Given the description of an element on the screen output the (x, y) to click on. 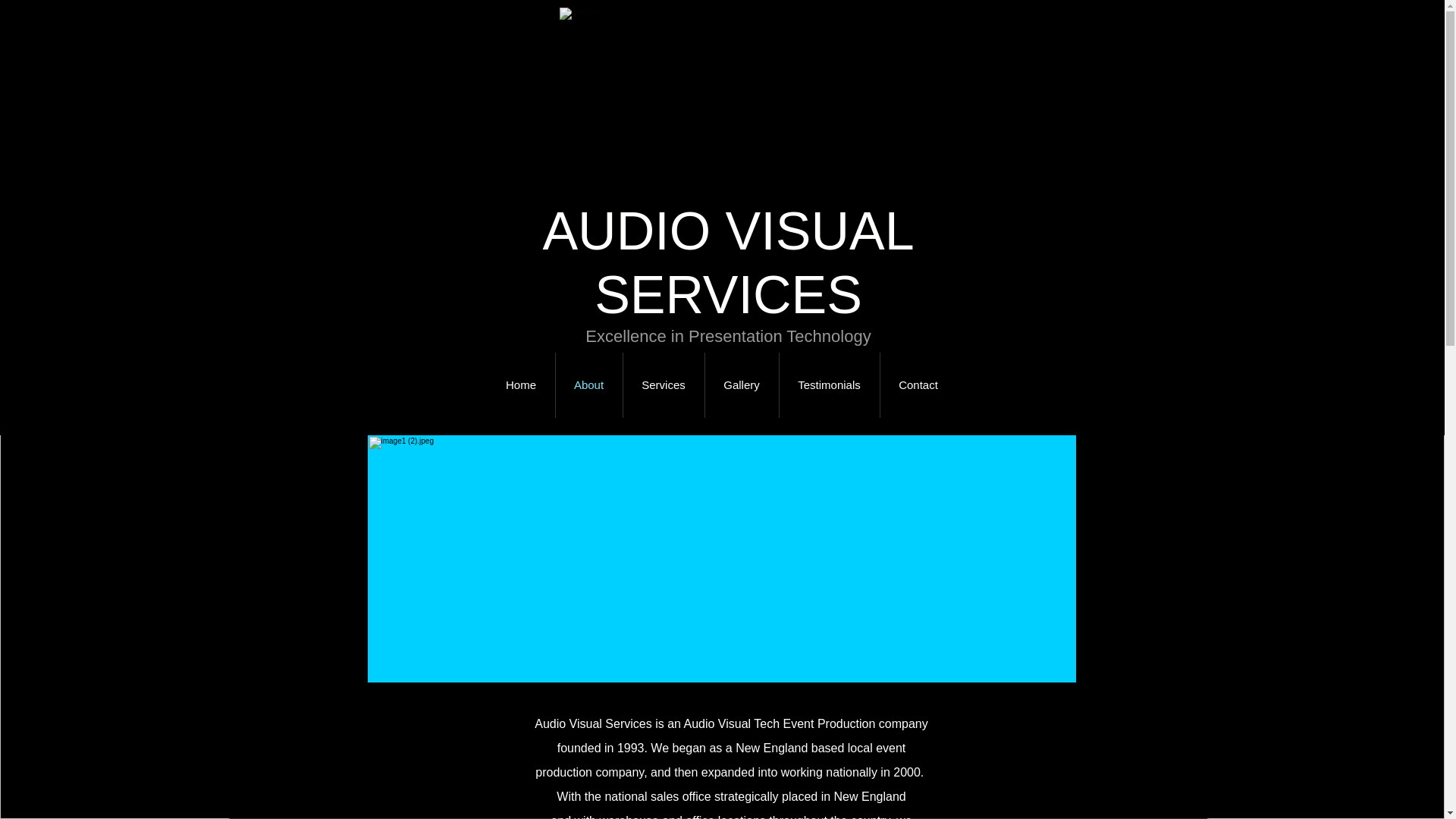
Testimonials (828, 384)
About (587, 384)
Home (520, 384)
Contact (917, 384)
Gallery (741, 384)
Services (663, 384)
